Given the description of an element on the screen output the (x, y) to click on. 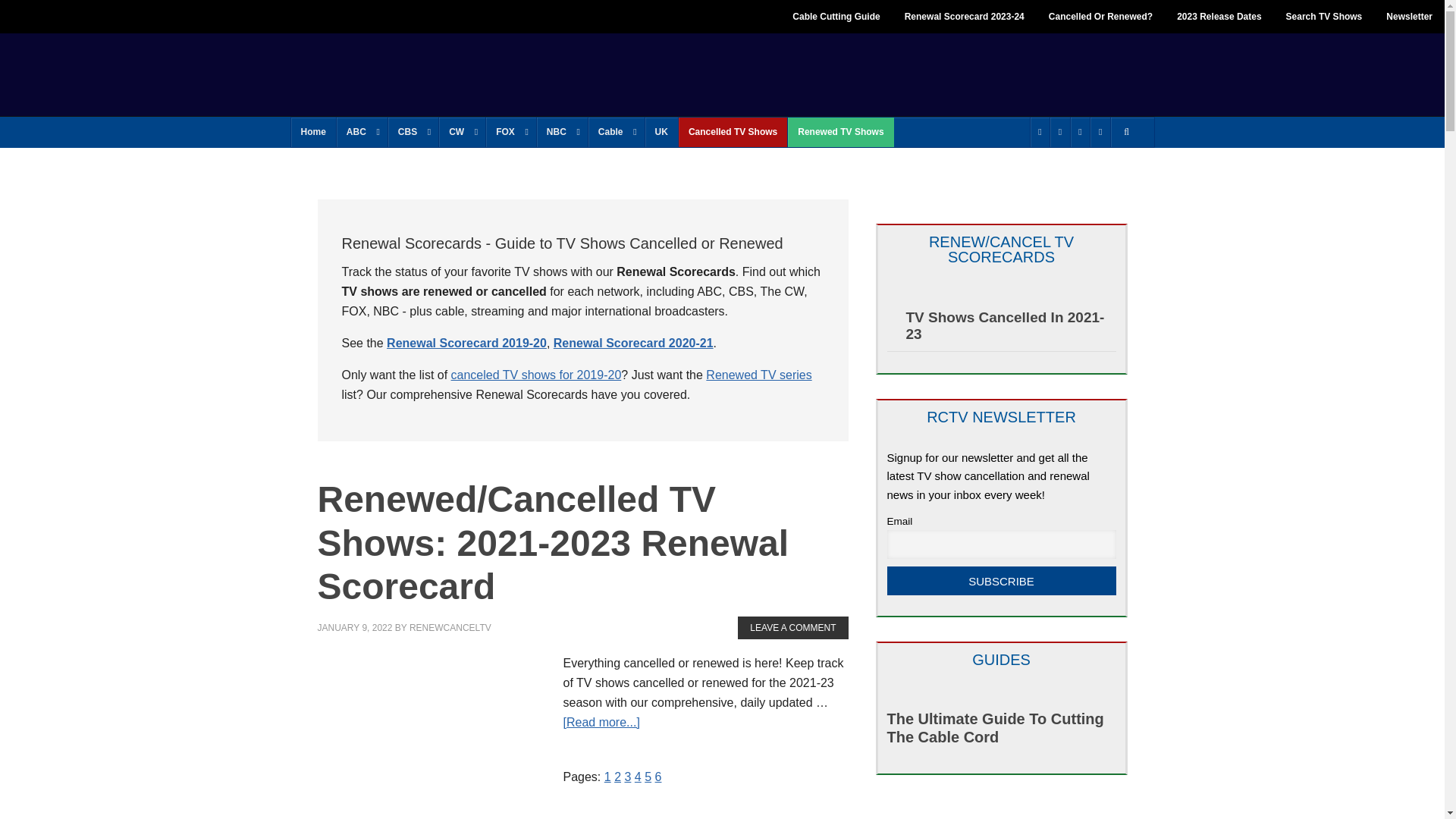
Subscribe (1001, 580)
CBS (412, 132)
Cable Cutting Guide (835, 16)
2023 Release Dates (1218, 16)
Search TV Shows (1324, 16)
RENEWCANCELTV (401, 73)
Home (313, 132)
Renewal Scorecard 2023-24 (964, 16)
ABC (361, 132)
Cancelled Or Renewed? (1100, 16)
